Given the description of an element on the screen output the (x, y) to click on. 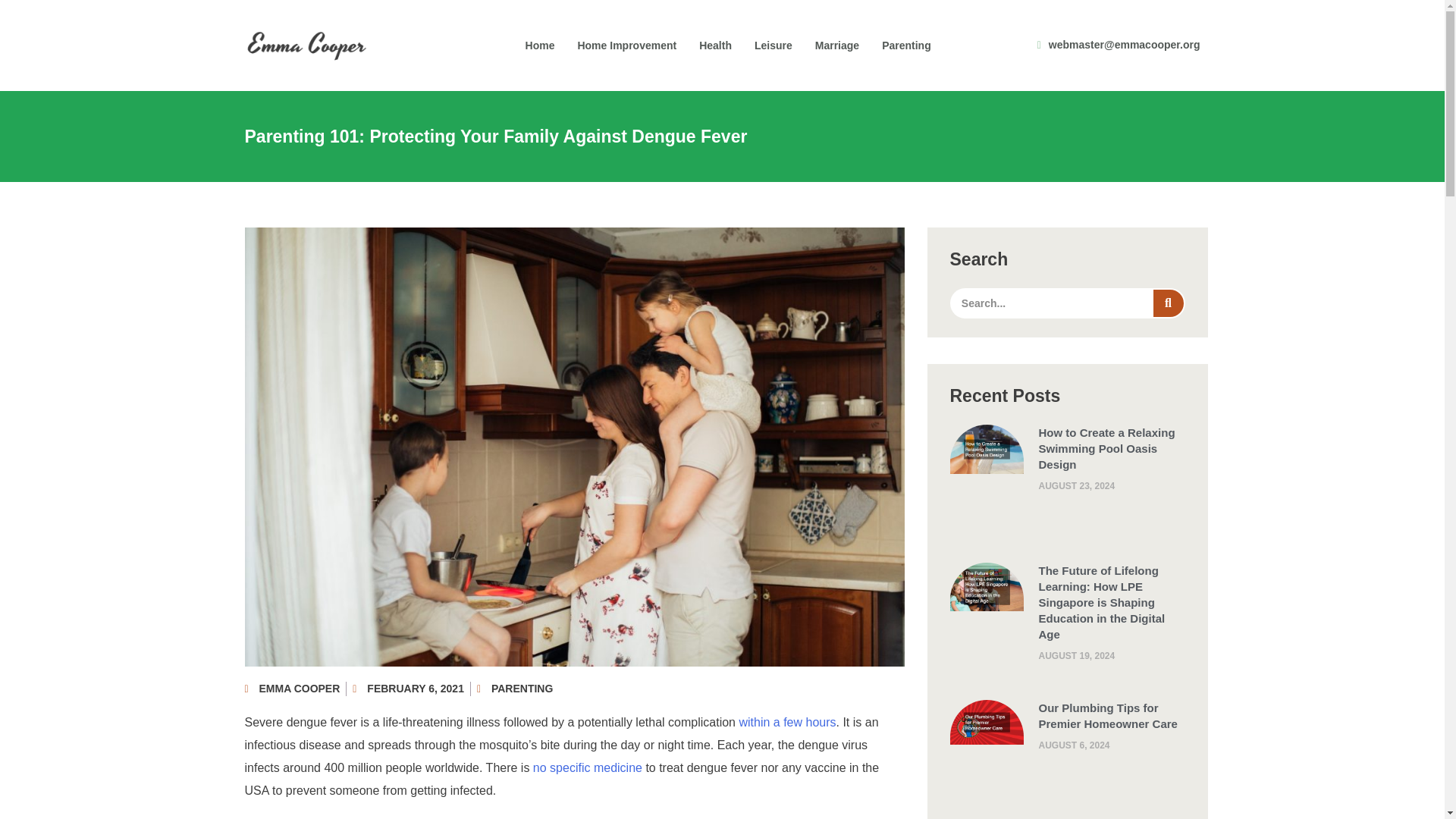
How to Create a Relaxing Swimming Pool Oasis Design (1106, 447)
Search (1167, 302)
FEBRUARY 6, 2021 (408, 688)
within a few hours (786, 721)
emmacooper-logo (306, 45)
Home Improvement (626, 45)
PARENTING (522, 688)
no specific medicine (587, 767)
